Given the description of an element on the screen output the (x, y) to click on. 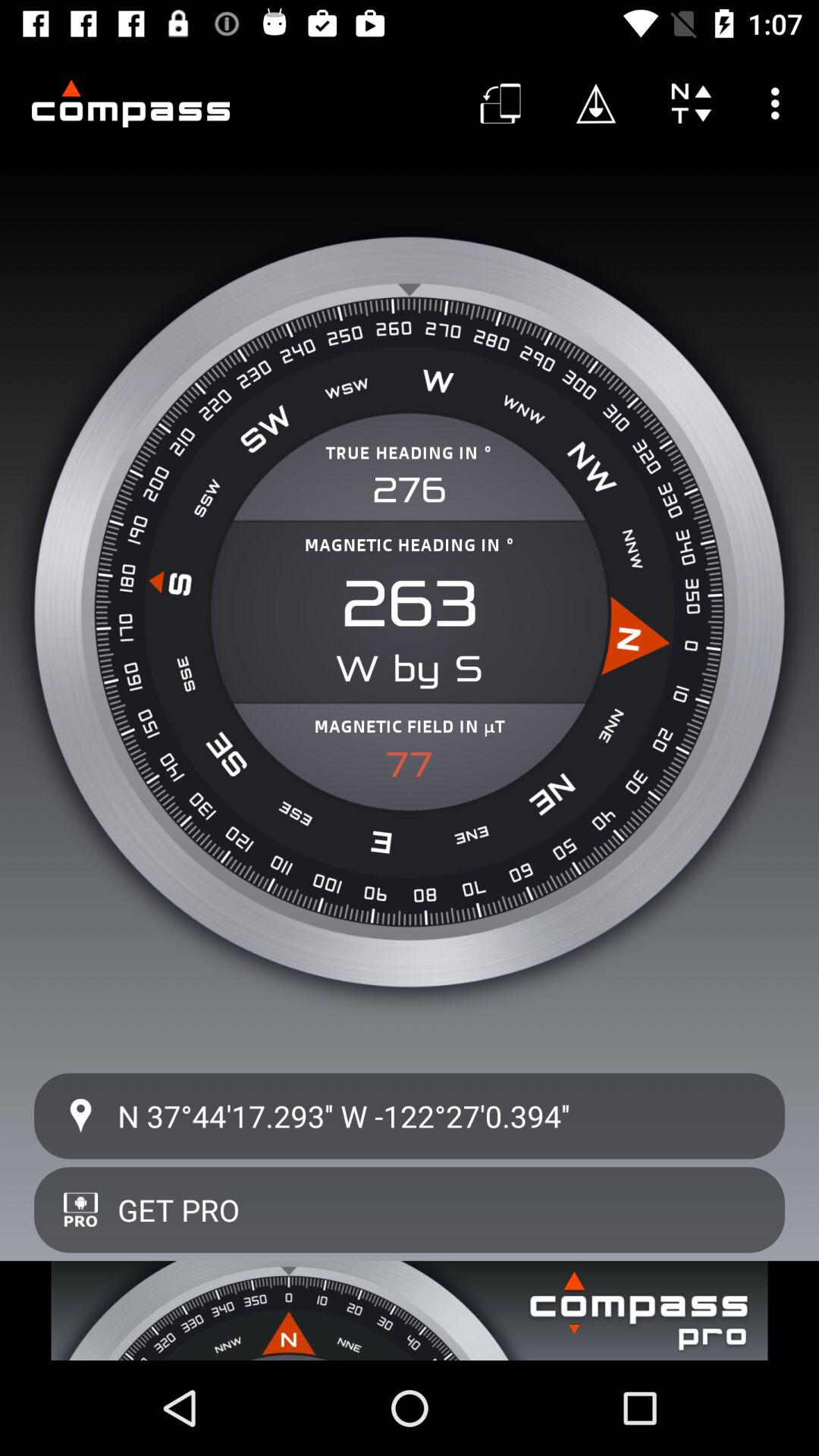
press item above the magnetic field in icon (409, 668)
